Given the description of an element on the screen output the (x, y) to click on. 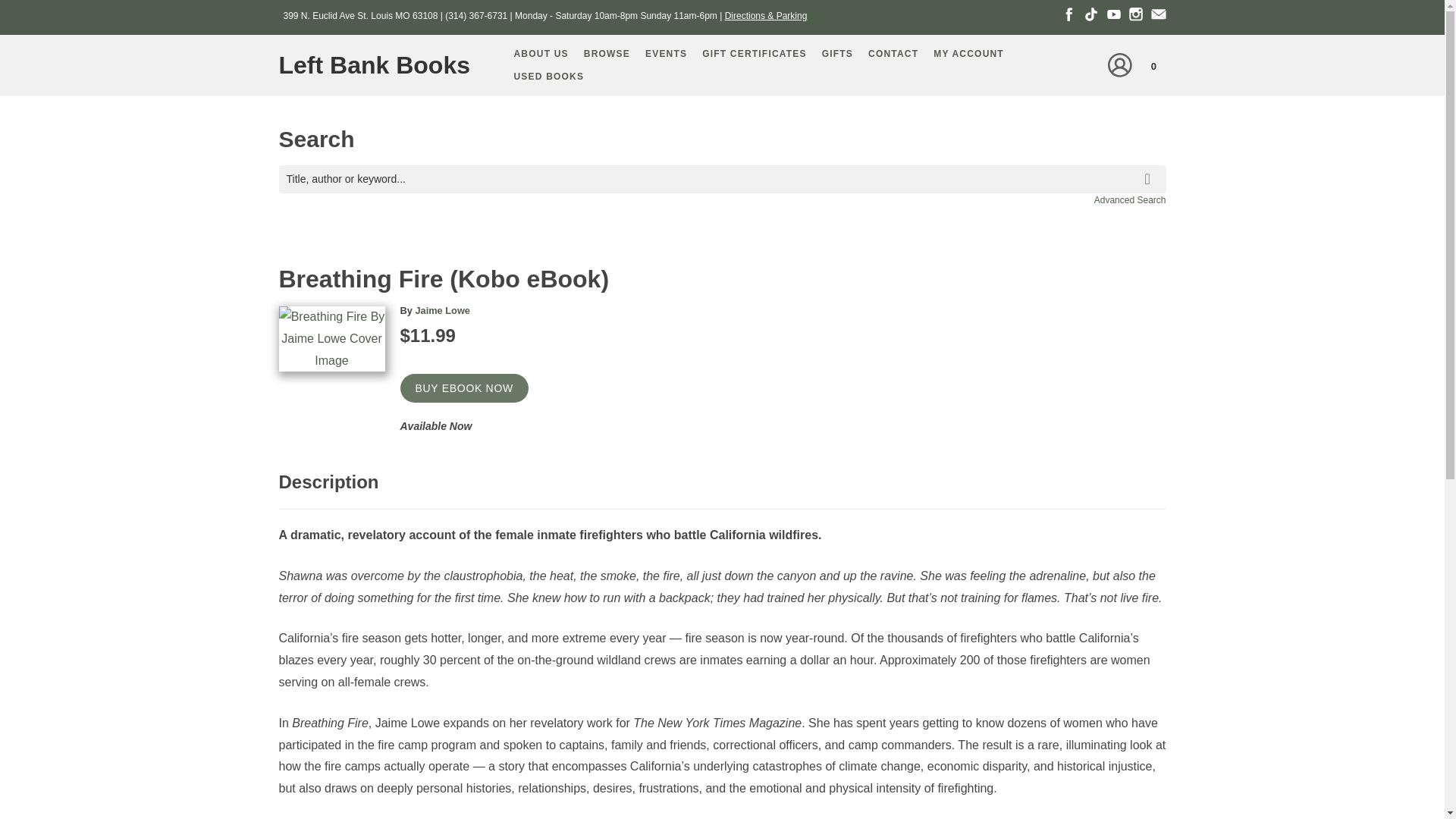
ABOUT US (541, 53)
Buy eBook Now (464, 388)
GIFTS (836, 53)
BROWSE (606, 53)
GIFT CERTIFICATES (753, 53)
search (1150, 167)
Left Bank Books (381, 64)
T-Shirts, Gifts and More (836, 53)
Home (381, 64)
Title, author or keyword... (722, 179)
